Given the description of an element on the screen output the (x, y) to click on. 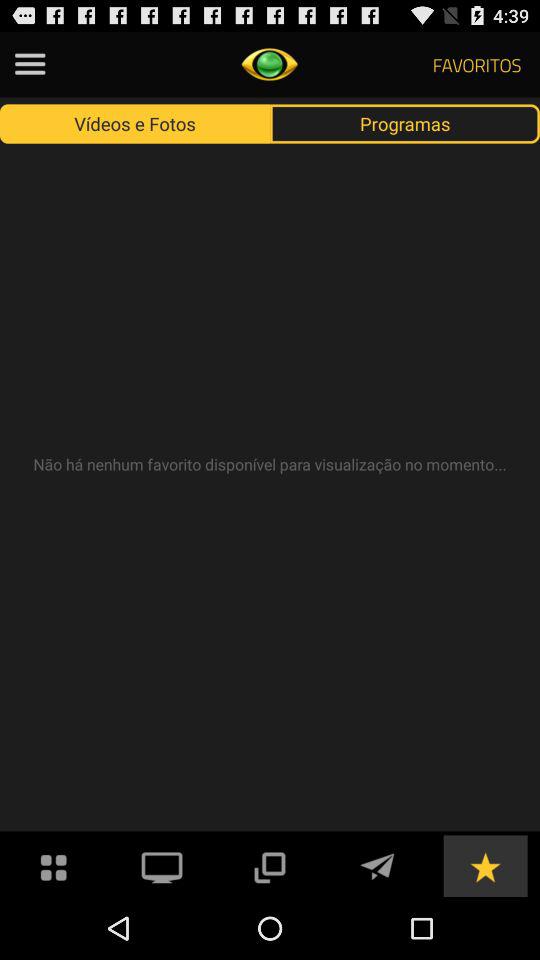
favoritos (485, 865)
